Given the description of an element on the screen output the (x, y) to click on. 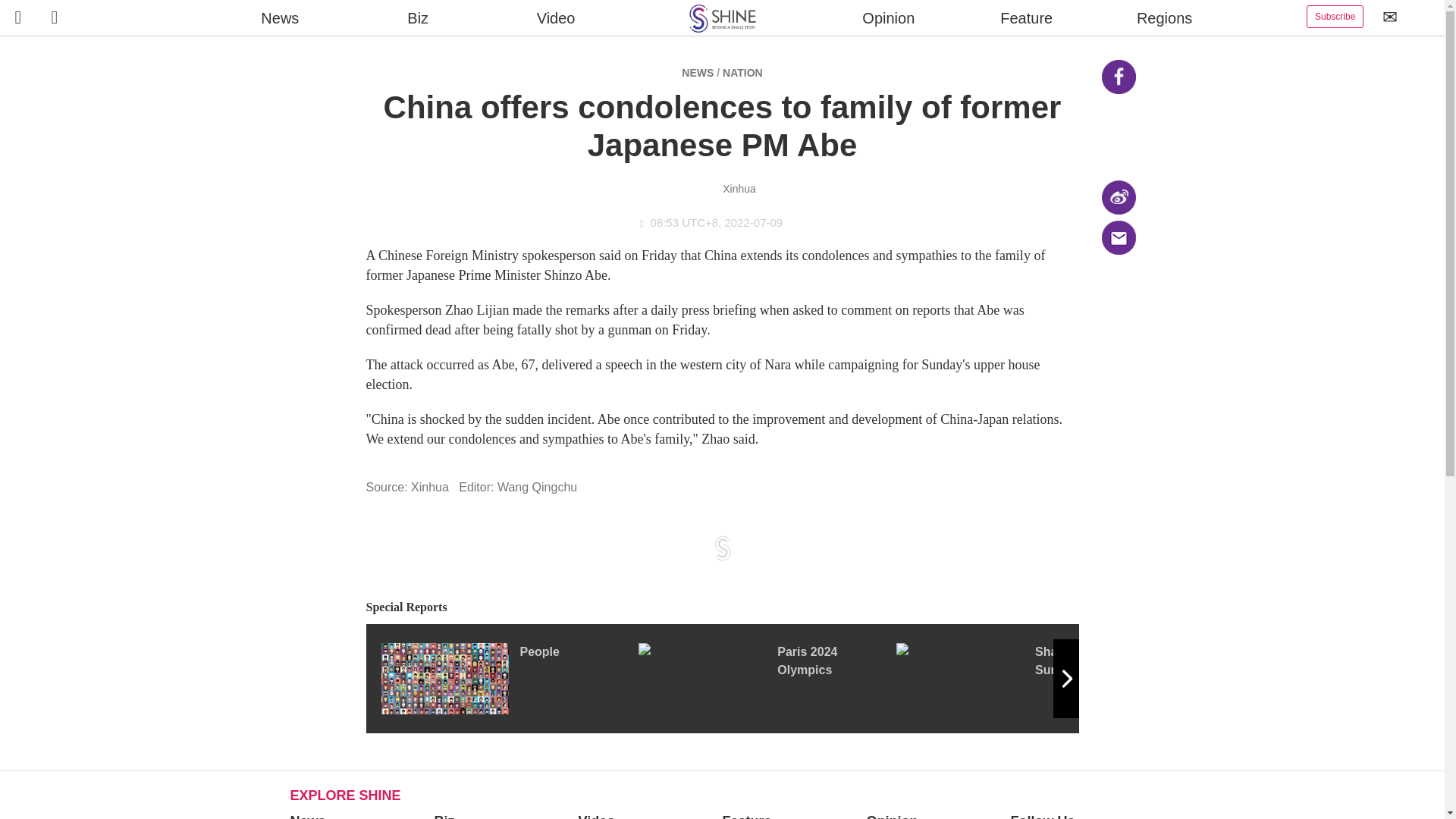
Add to favorites (1117, 277)
Biz (443, 816)
NATION (742, 72)
Paris 2024 Olympics (767, 678)
Shanghai Summer (1024, 678)
News (306, 816)
Share your comments (1117, 317)
Share via email (1117, 237)
Special Reports (721, 607)
People (508, 678)
NEWS (697, 72)
